Given the description of an element on the screen output the (x, y) to click on. 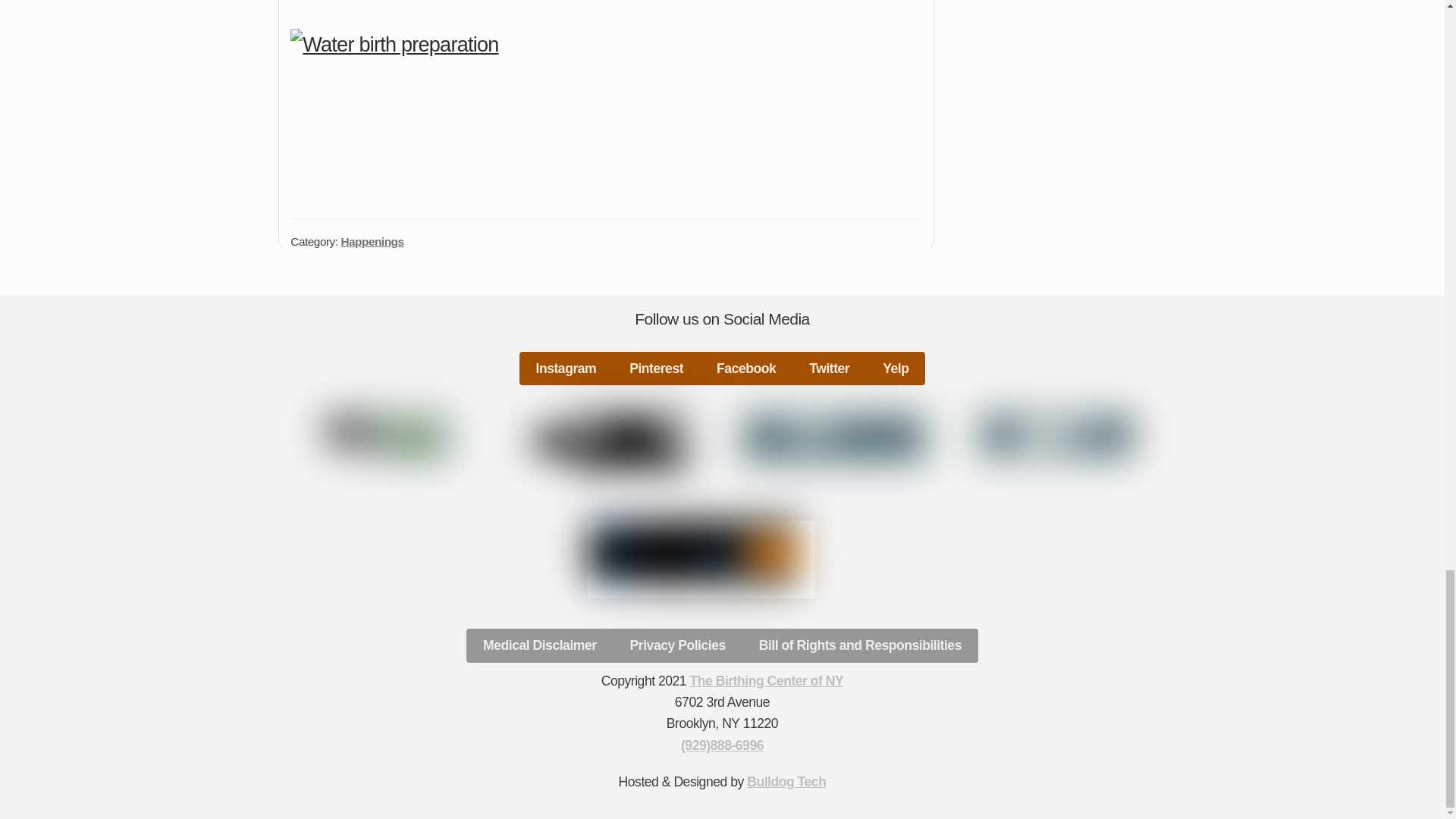
newlife-logo (610, 441)
bcc-member (834, 437)
bulldog-logo-bc (387, 435)
HealthBanks-logo-Small (693, 552)
aabc (1056, 435)
Instagram Pinterest Facebook Twitter Yelp (722, 368)
